Given the description of an element on the screen output the (x, y) to click on. 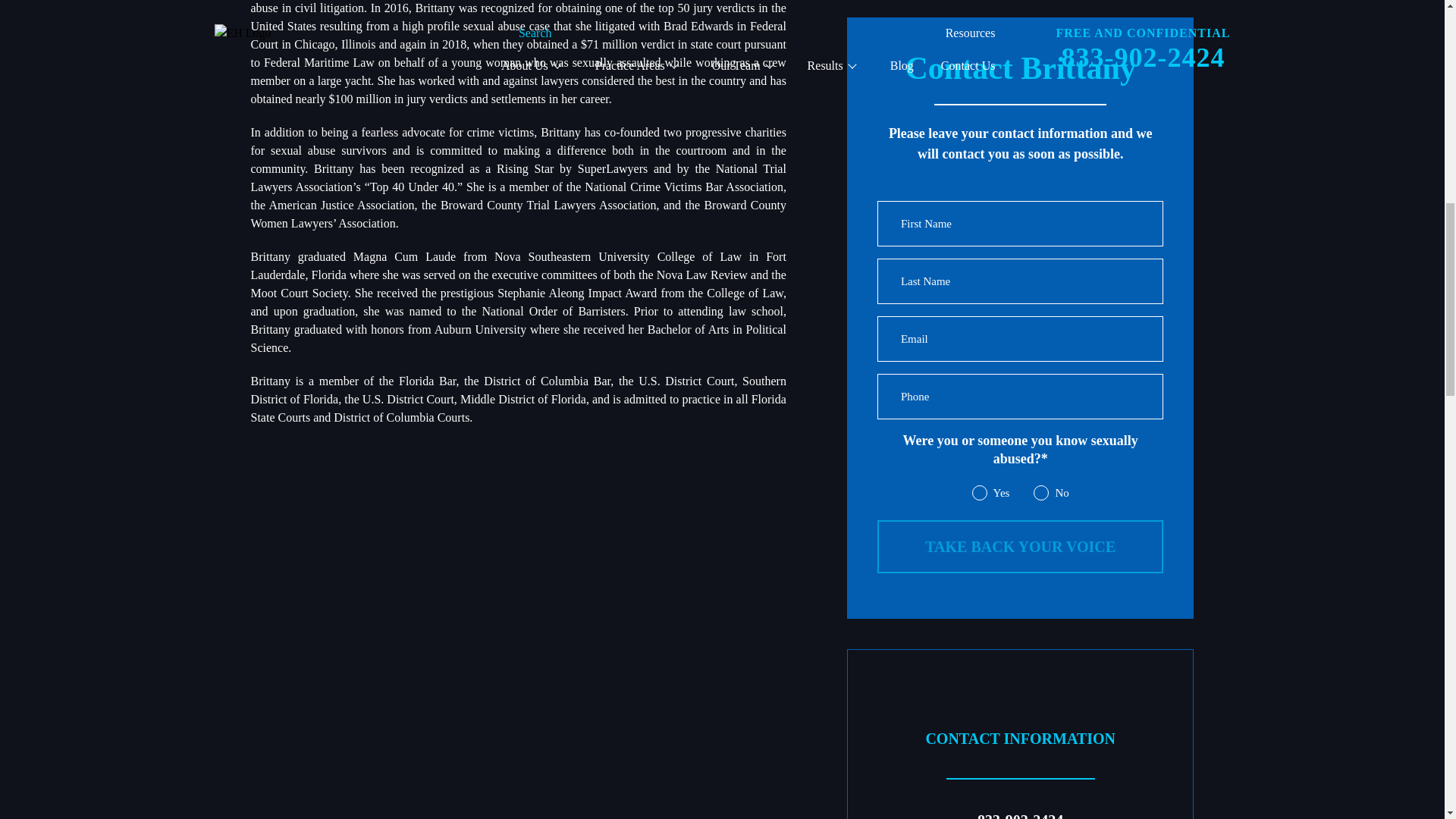
Take back your voice (1020, 546)
